Given the description of an element on the screen output the (x, y) to click on. 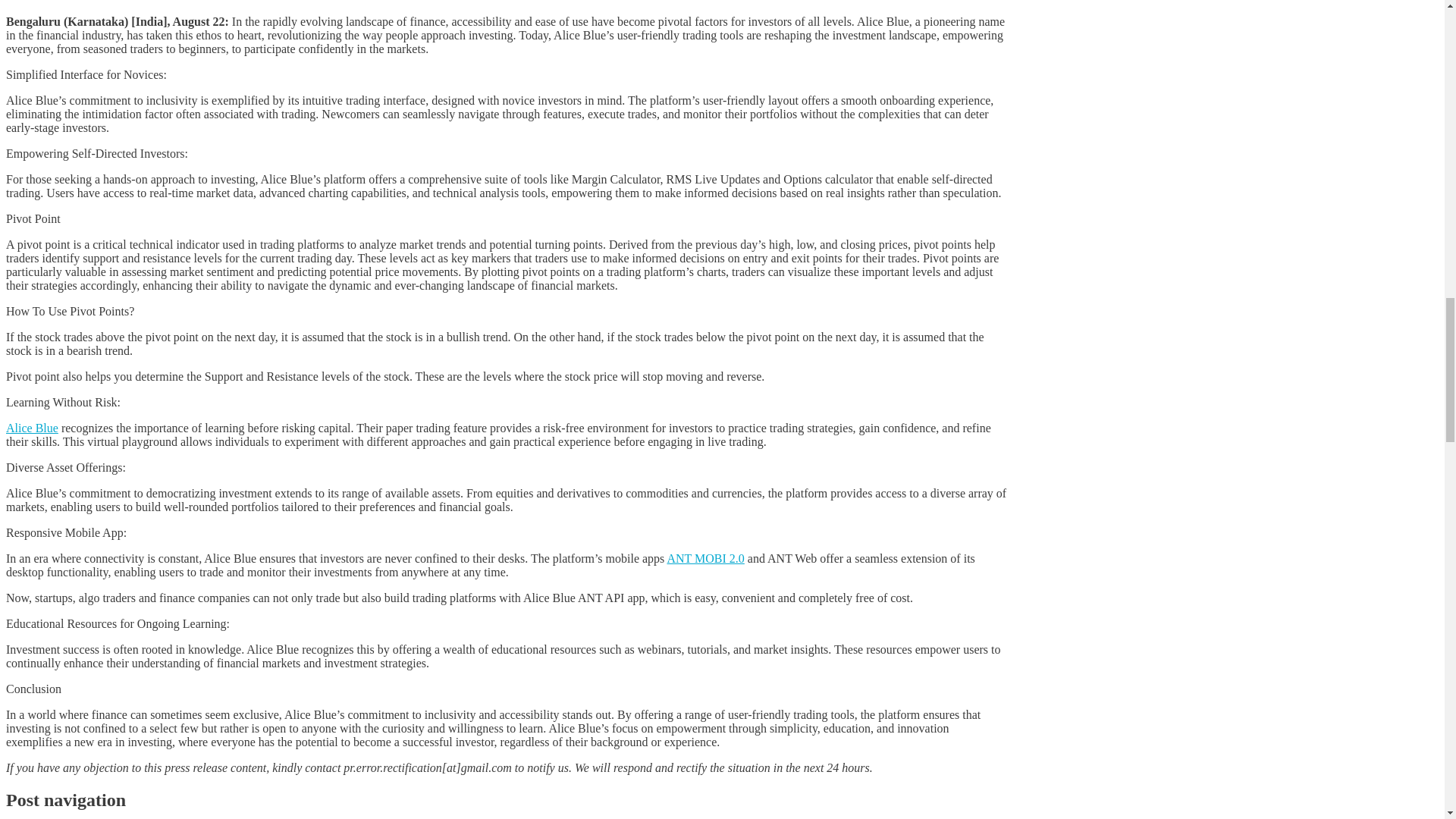
Alice Blue (31, 427)
ANT MOBI 2.0 (705, 558)
